Given the description of an element on the screen output the (x, y) to click on. 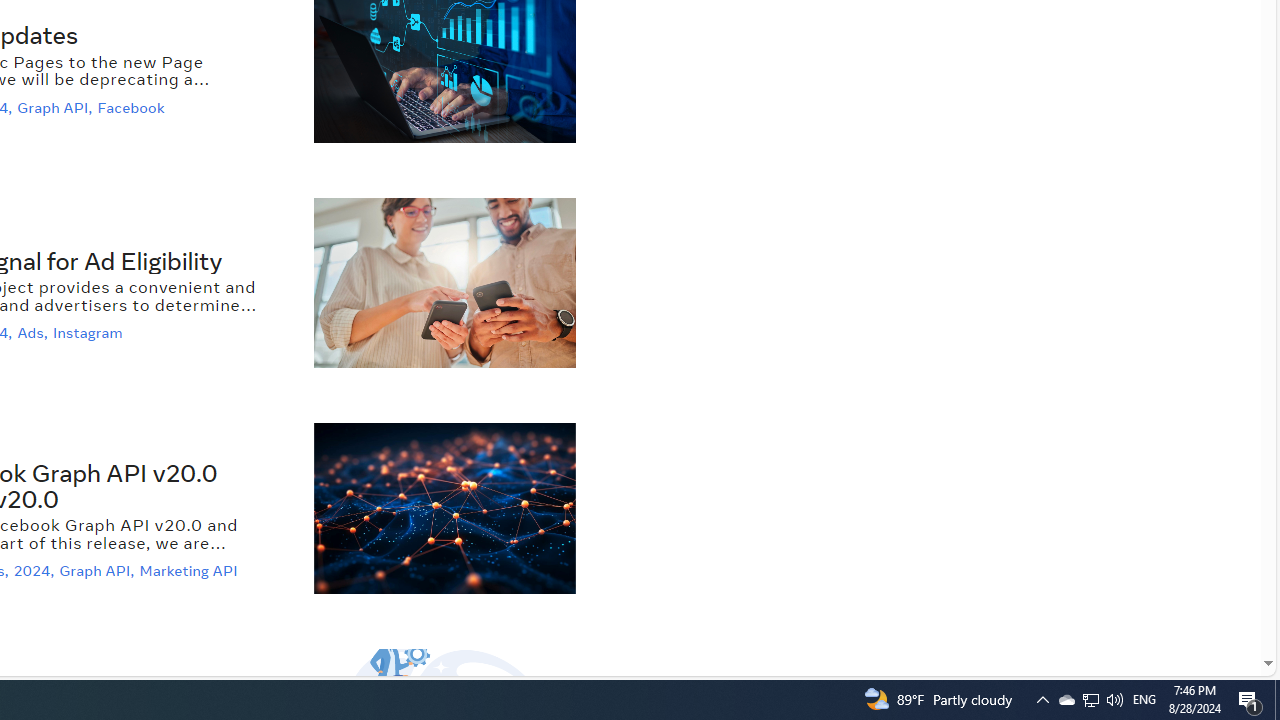
Graph API, (98, 571)
Facebook (133, 106)
Instagram (90, 333)
Ads, (34, 333)
Marketing API (191, 571)
2024, (36, 571)
